Given the description of an element on the screen output the (x, y) to click on. 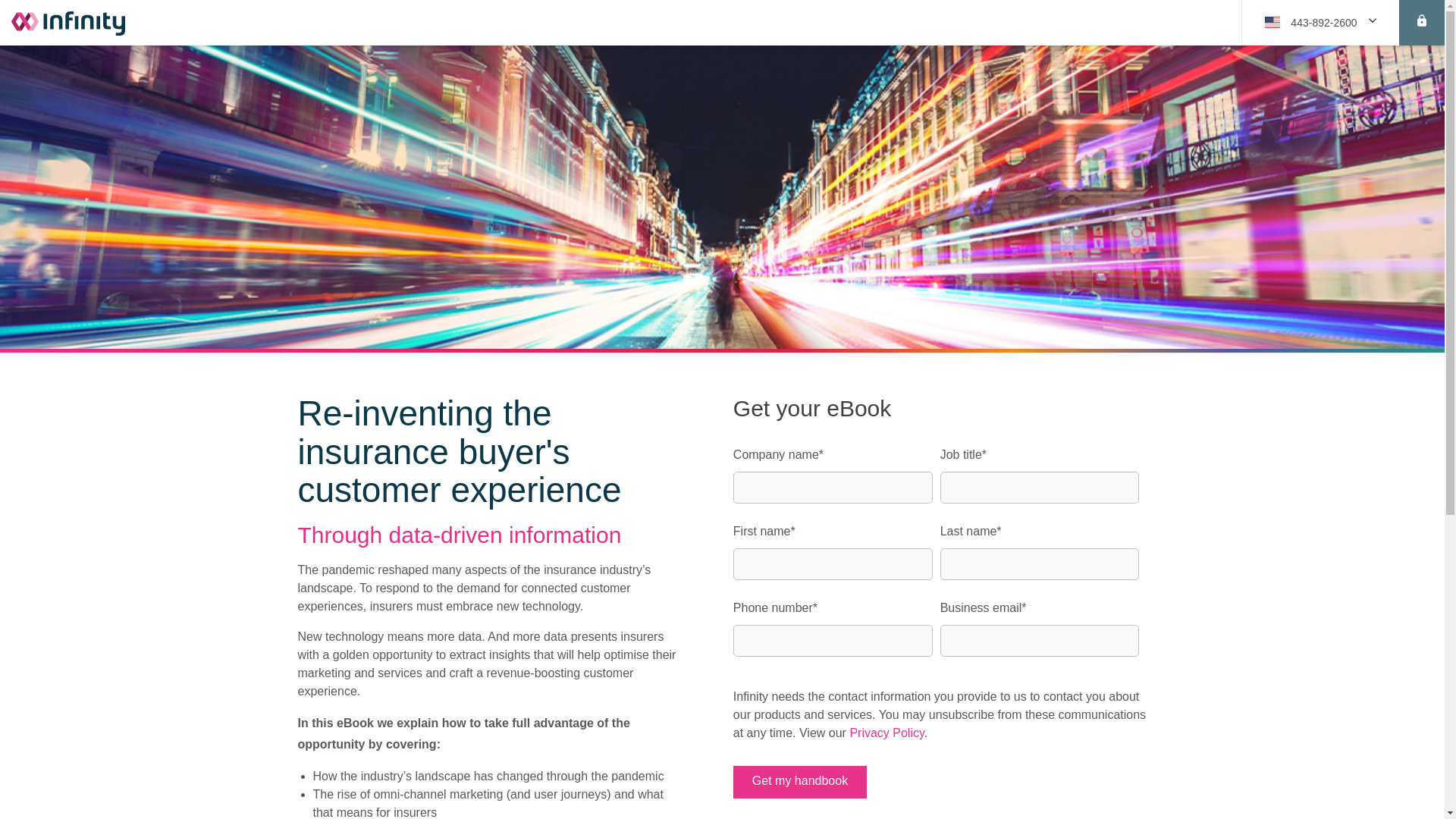
Privacy Policy (885, 732)
USA (1312, 21)
443-892-2600 (1312, 21)
Get my handbook (799, 781)
Get my handbook (799, 781)
